Given the description of an element on the screen output the (x, y) to click on. 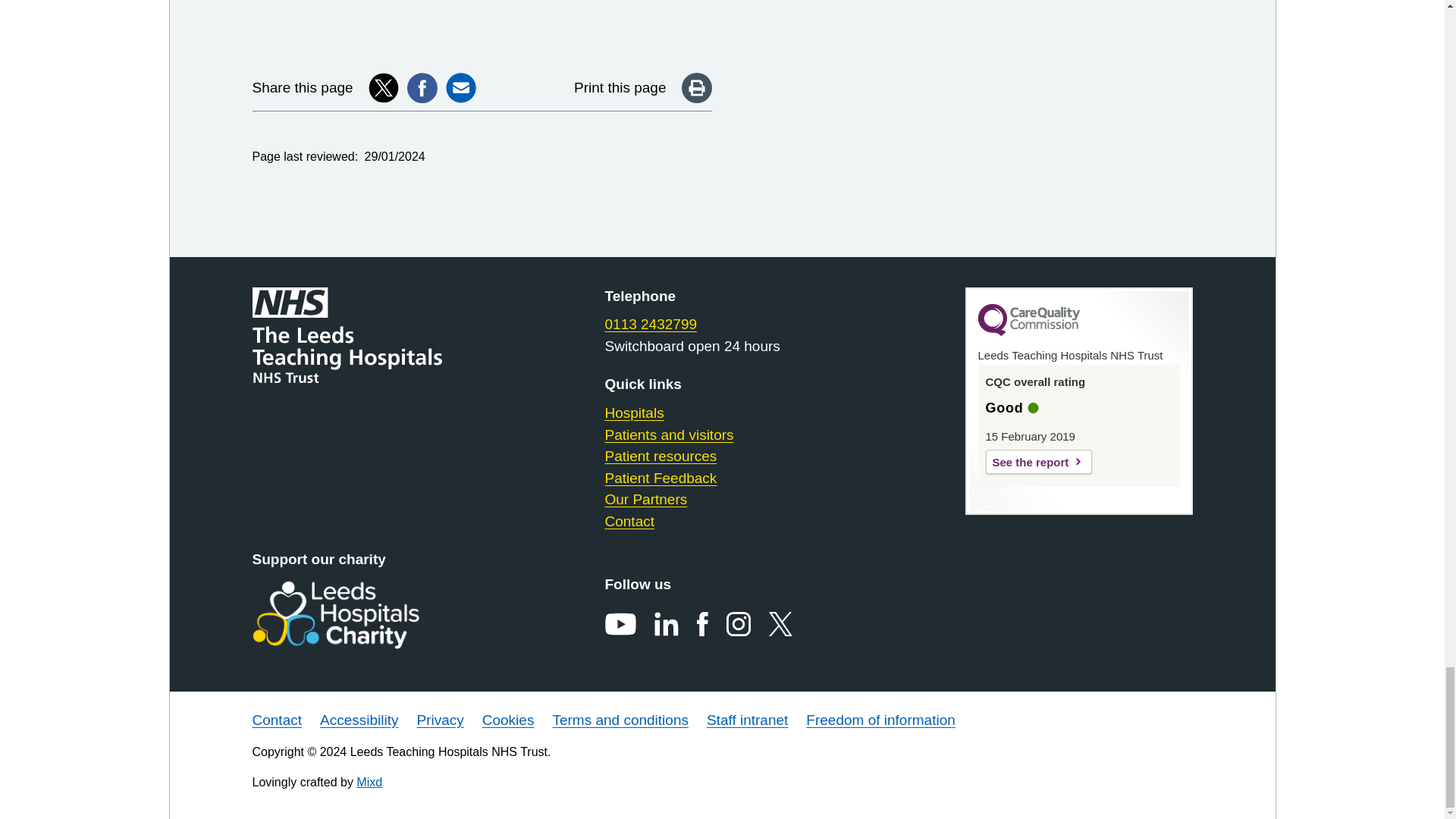
Leeds Teaching Hospitals NHS Trust Homepage (359, 335)
Share via Email (460, 87)
Leeds Hospital Charity (359, 614)
Share on Facebook (422, 87)
CQC Logo (1029, 331)
